Given the description of an element on the screen output the (x, y) to click on. 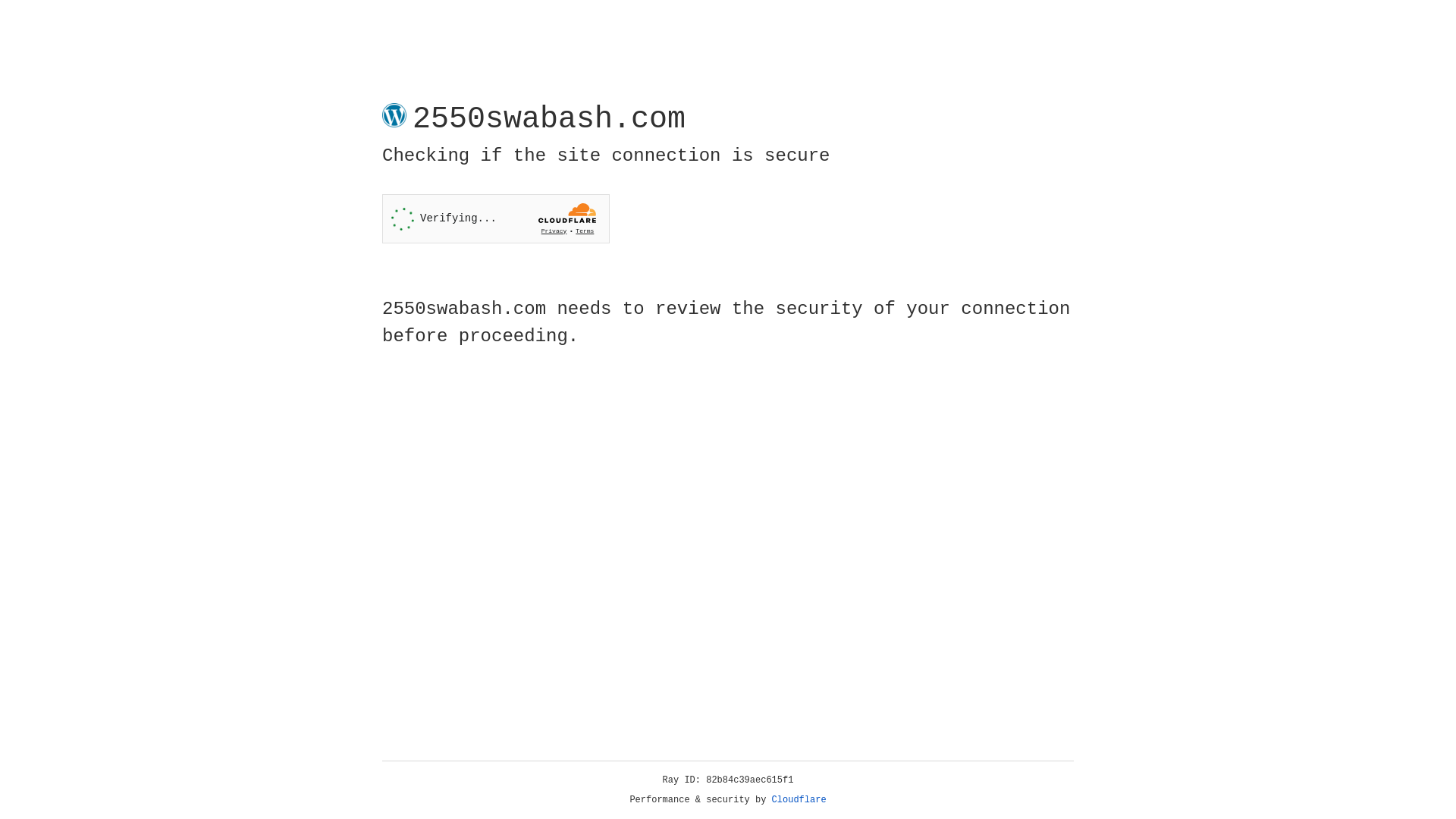
Cloudflare Element type: text (798, 799)
Widget containing a Cloudflare security challenge Element type: hover (495, 218)
